Given the description of an element on the screen output the (x, y) to click on. 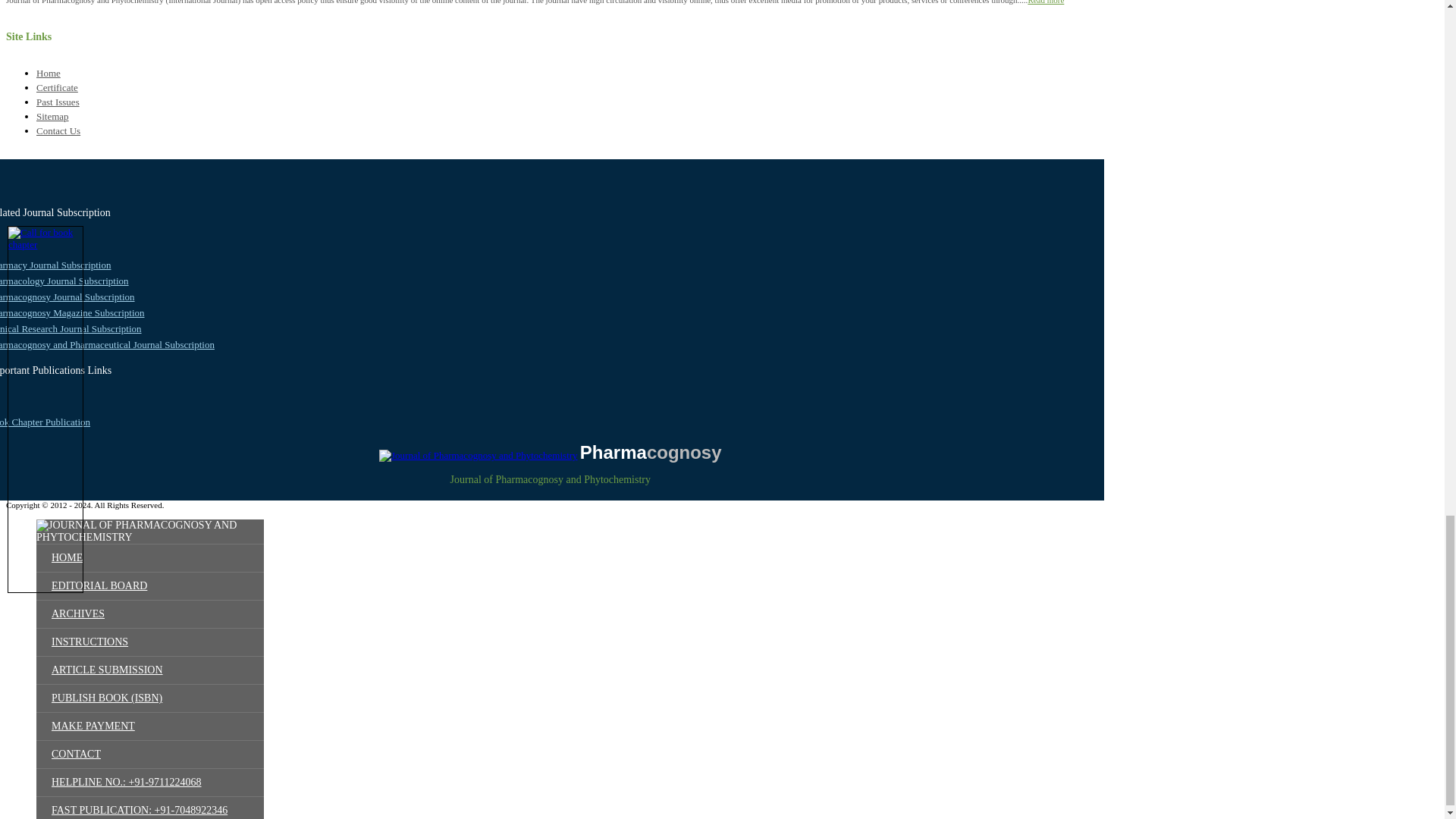
Home (48, 72)
Certificate (57, 87)
Read more (1045, 2)
